Given the description of an element on the screen output the (x, y) to click on. 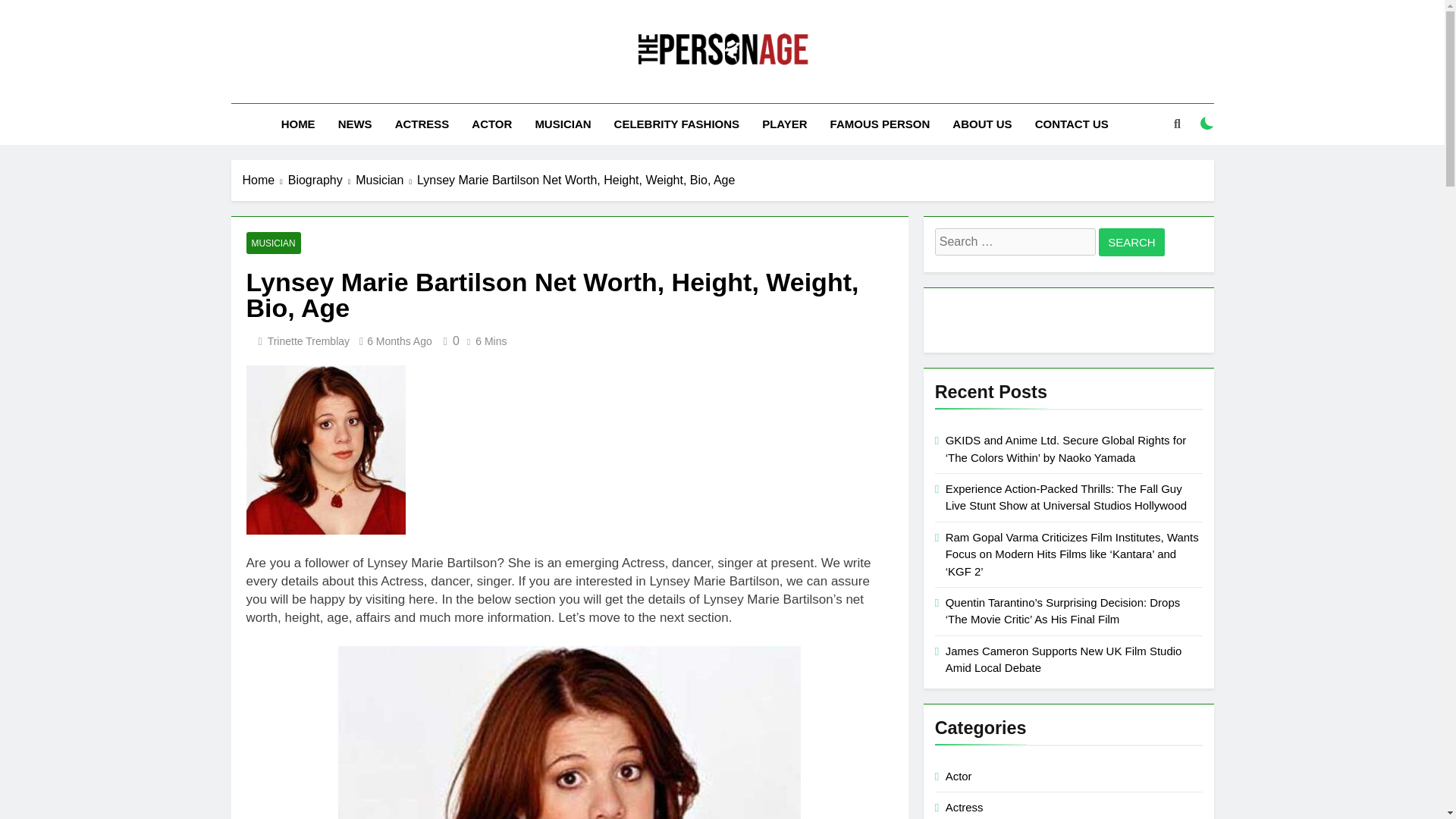
Home (265, 180)
The Personage (587, 89)
MUSICIAN (562, 124)
NEWS (355, 124)
ABOUT US (981, 124)
MUSICIAN (272, 242)
0 (449, 340)
CONTACT US (1071, 124)
HOME (297, 124)
ACTOR (491, 124)
